Given the description of an element on the screen output the (x, y) to click on. 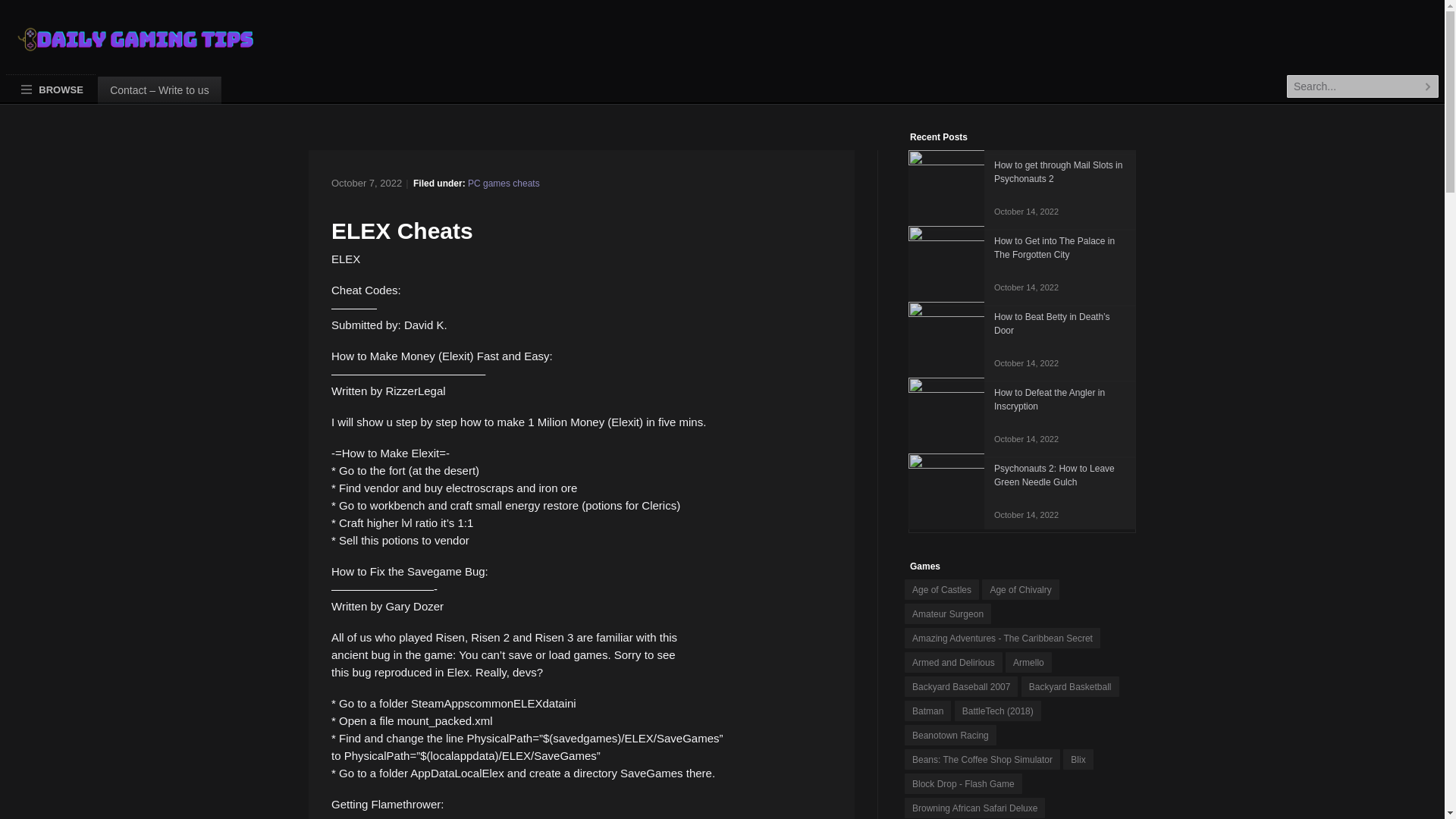
Dailygamingtips.com (123, 45)
Beanotown Racing (949, 734)
Backyard Basketball (1070, 686)
PC games cheats (503, 183)
Beans: The Coffee Shop Simulator (1021, 415)
Armello (981, 759)
